Given the description of an element on the screen output the (x, y) to click on. 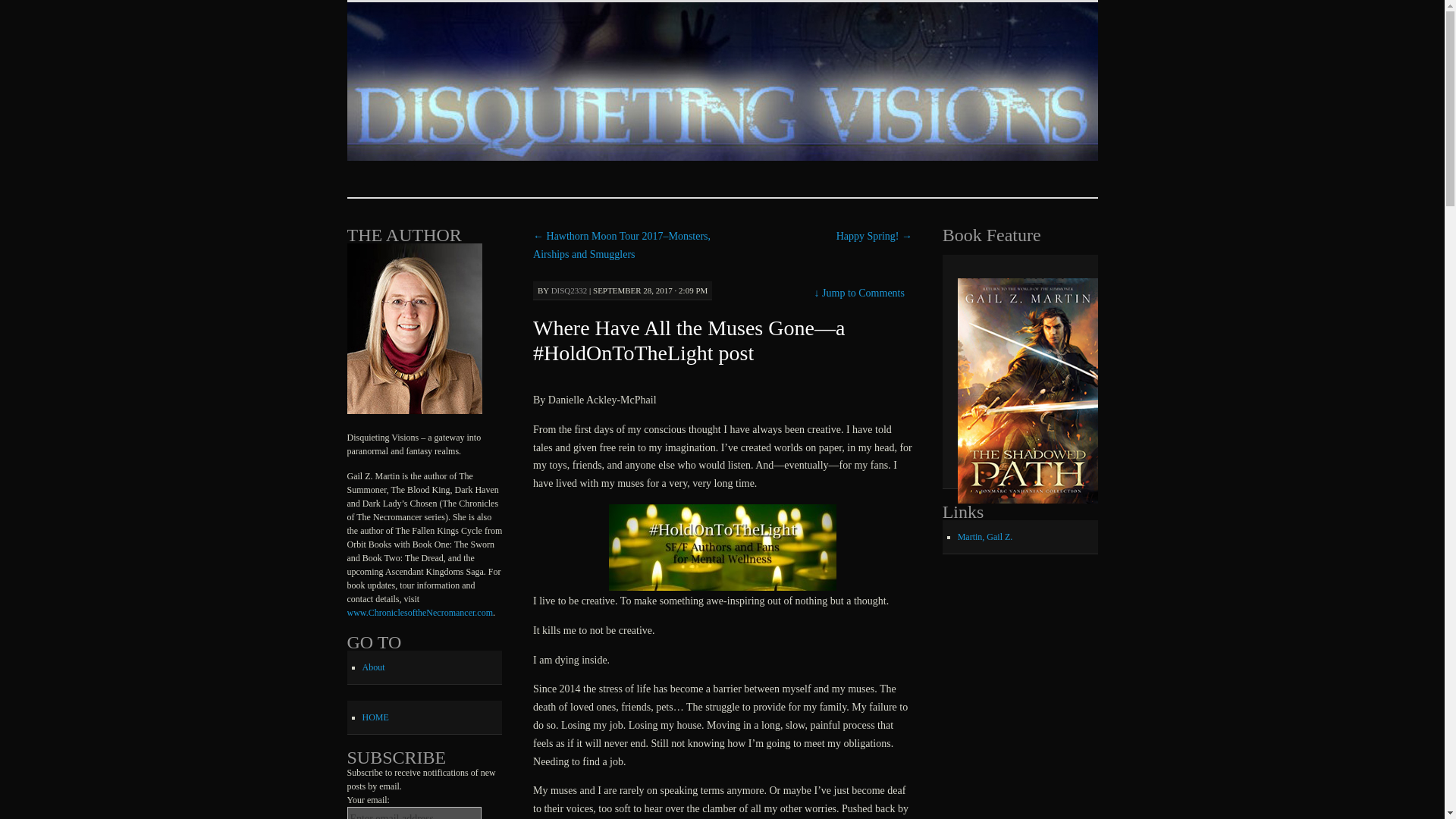
DISQ2332 (569, 289)
Enter email address... (414, 812)
View all posts by disq2332 (569, 289)
HOME (375, 716)
www.ChroniclesoftheNecromancer.com (420, 612)
Skip to content (429, 16)
SKIP TO CONTENT (429, 16)
About (373, 666)
